Given the description of an element on the screen output the (x, y) to click on. 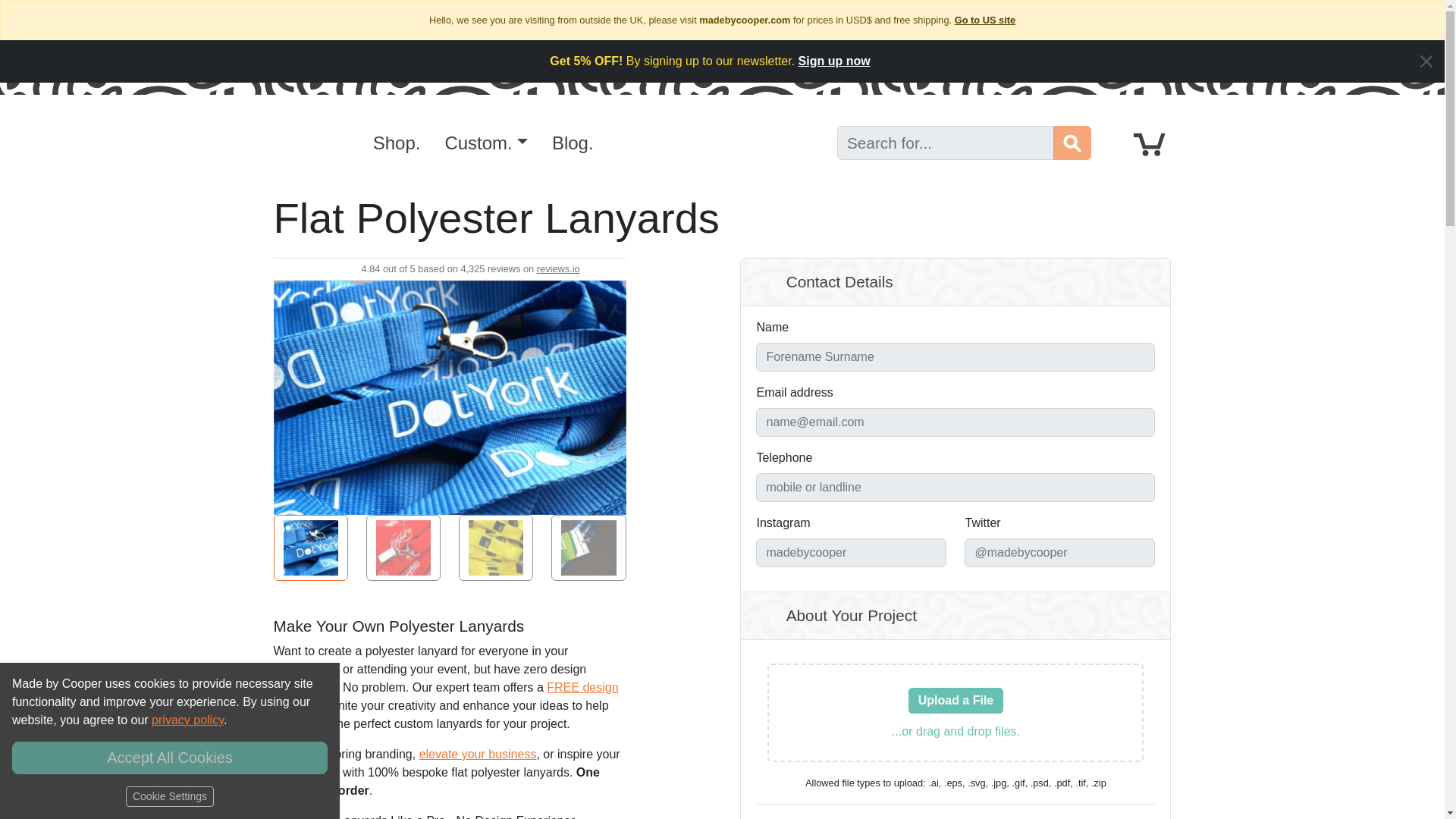
FREE design service (445, 695)
Sign up now (833, 60)
elevate your business (478, 753)
Search (1071, 142)
Go to US site (984, 19)
Skip to content (49, 12)
reviews.io (558, 268)
Blog. (572, 142)
Cart (1149, 143)
Custom. (485, 142)
Made By Cooper Logo (304, 142)
Shop. (396, 142)
